Given the description of an element on the screen output the (x, y) to click on. 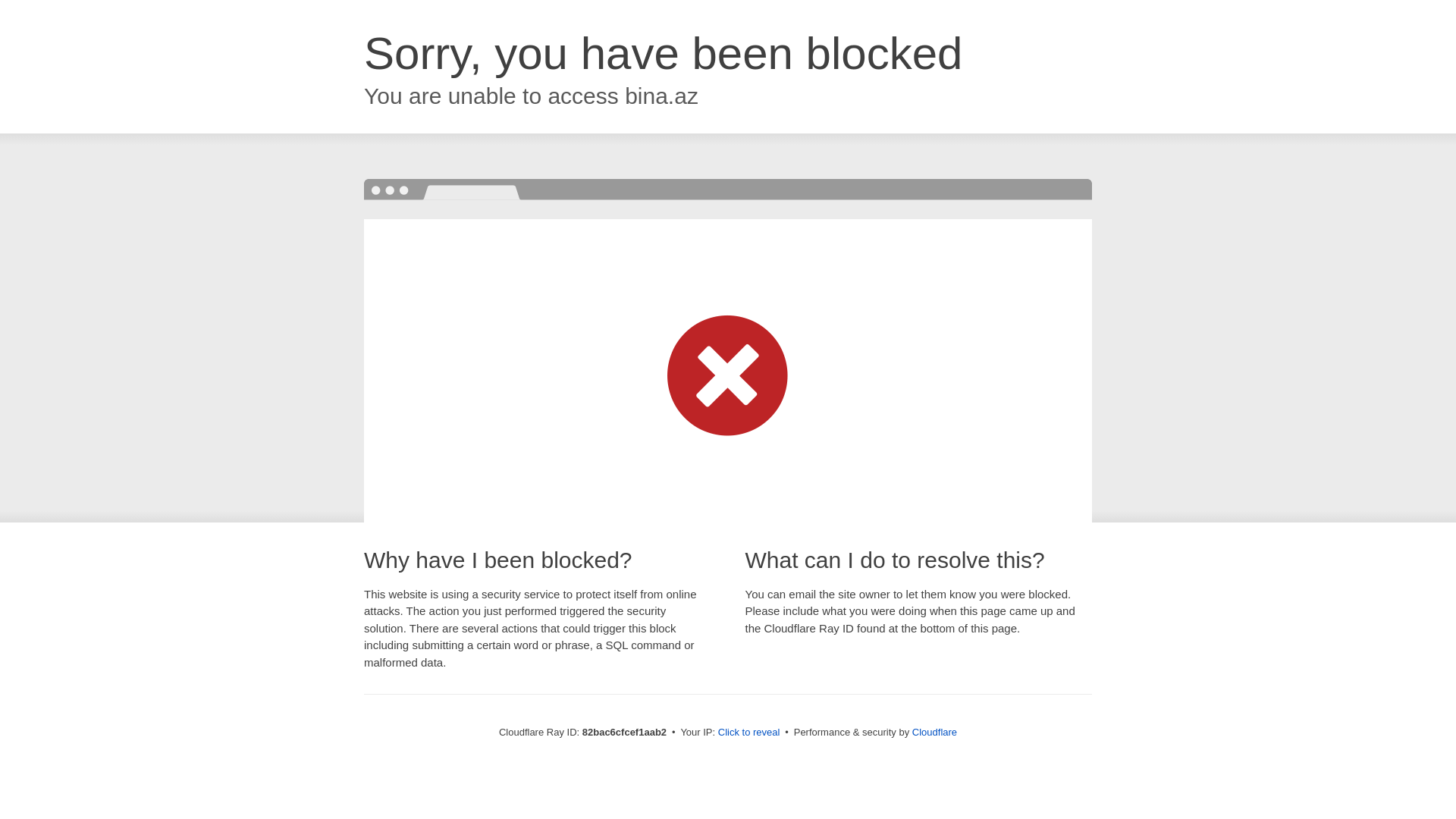
Cloudflare Element type: text (934, 731)
Click to reveal Element type: text (749, 732)
